Given the description of an element on the screen output the (x, y) to click on. 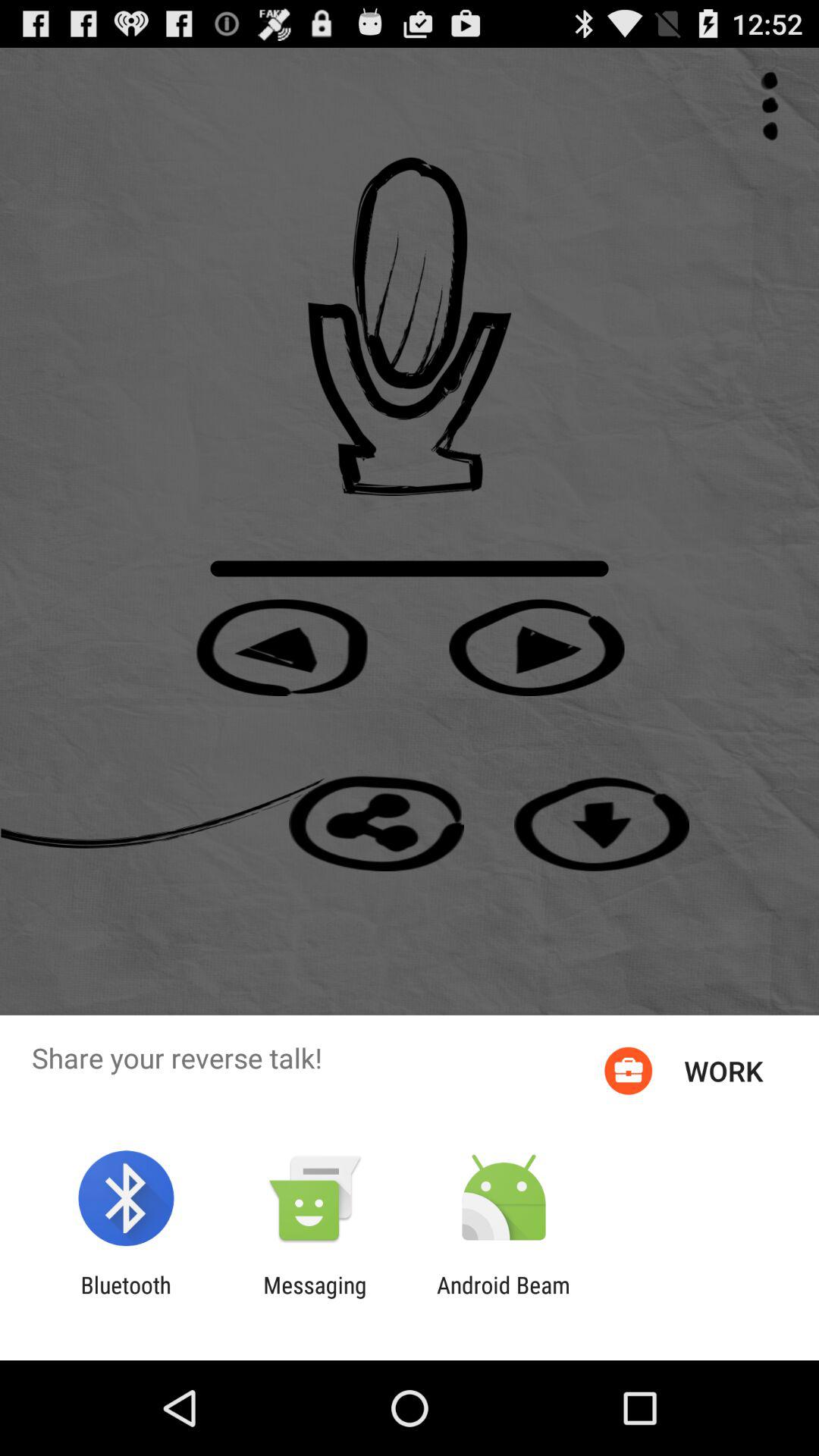
tap item to the right of bluetooth item (314, 1298)
